Given the description of an element on the screen output the (x, y) to click on. 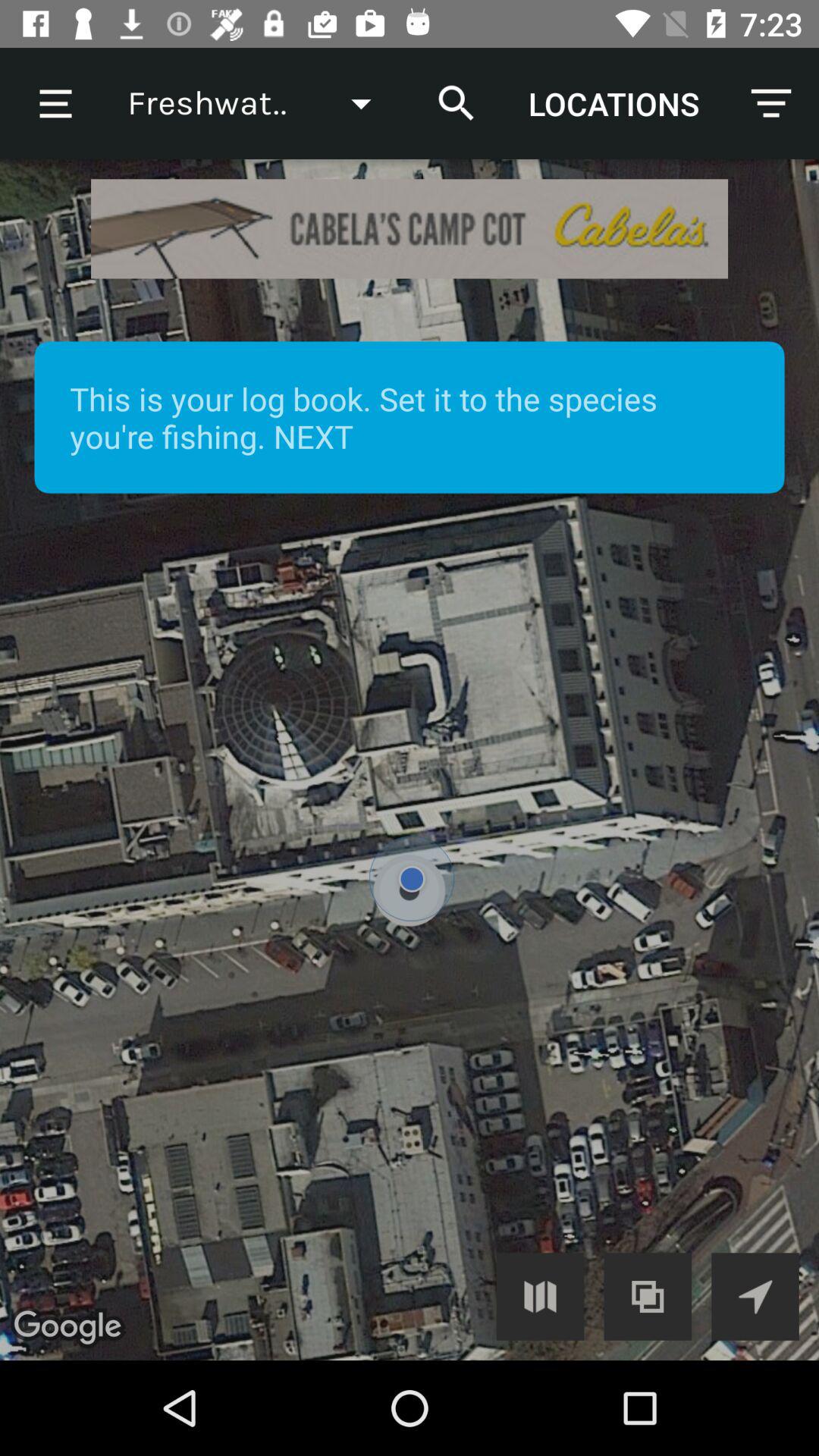
map button (540, 1296)
